Given the description of an element on the screen output the (x, y) to click on. 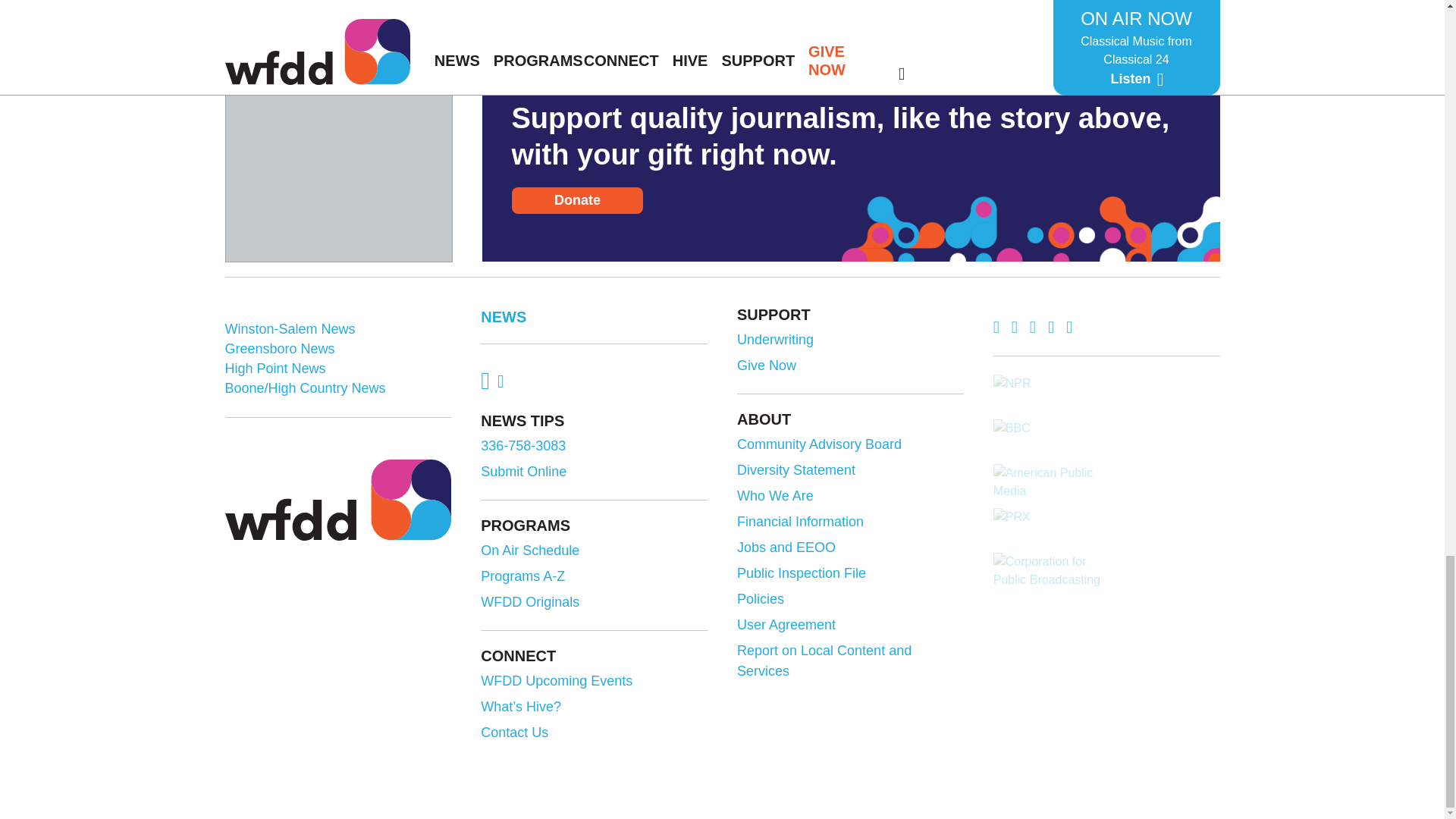
Community Advisory Board (847, 444)
3rd party ad content (338, 166)
Home (337, 499)
